Given the description of an element on the screen output the (x, y) to click on. 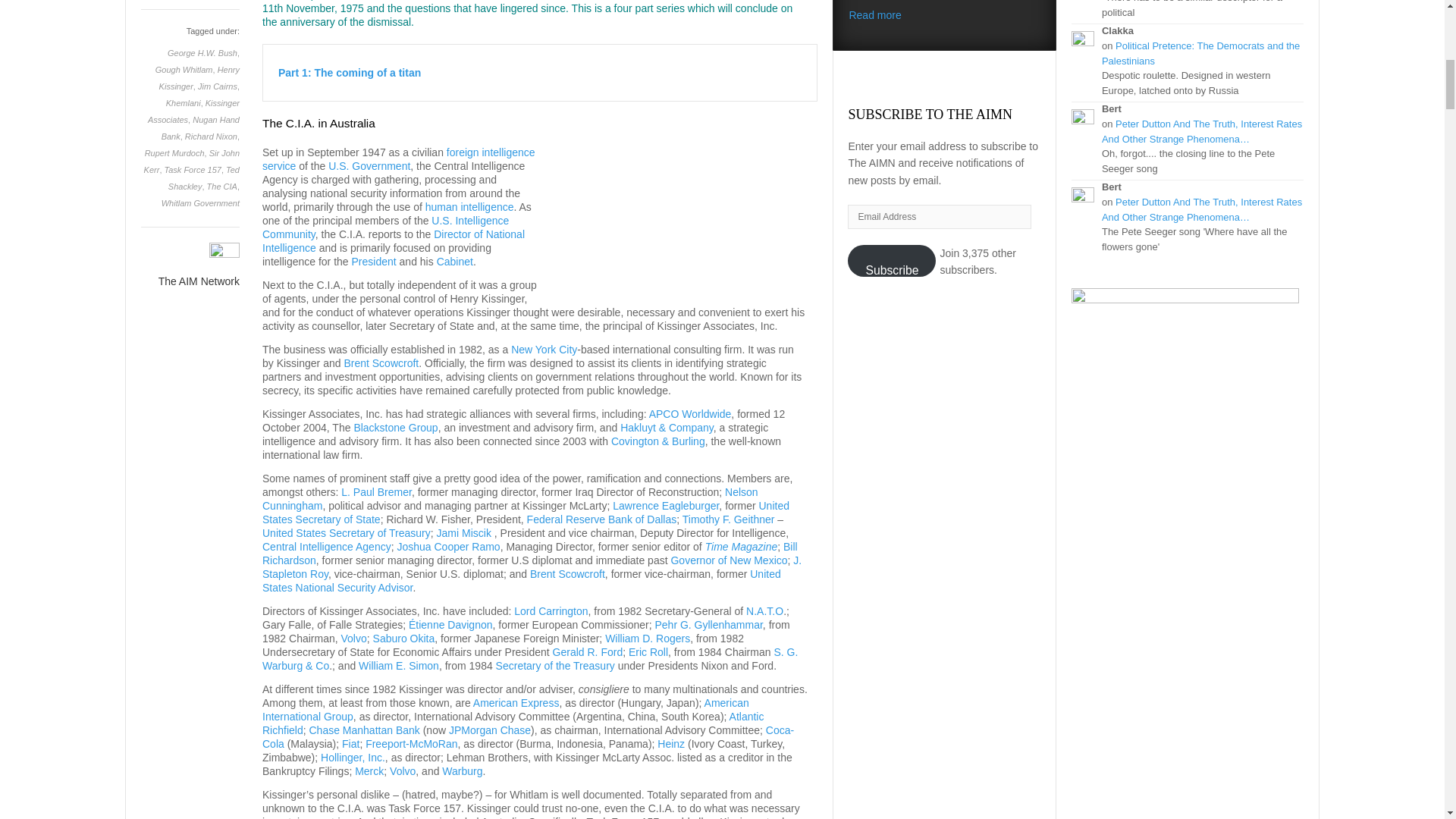
George H.W. Bush (202, 52)
